Given the description of an element on the screen output the (x, y) to click on. 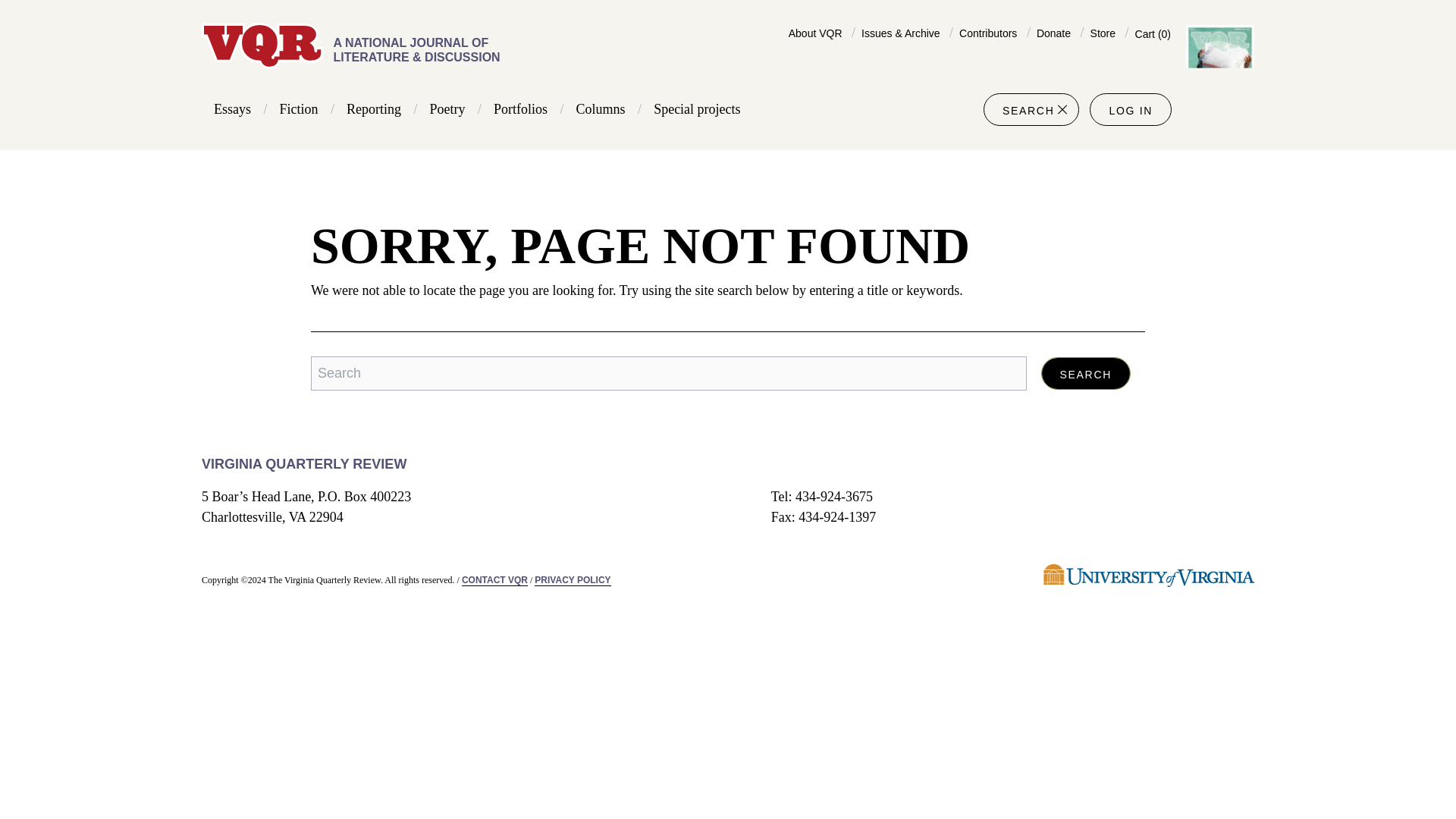
Contributors (987, 33)
Essays (232, 109)
Fiction (298, 109)
PRIVACY POLICY (572, 580)
Columns (601, 109)
LOG IN (1130, 110)
Donate (1053, 33)
Search (1085, 373)
Poetry (447, 109)
Special projects (696, 109)
SEARCH (1031, 109)
CONTACT VQR (494, 580)
Reporting (373, 109)
Store (1102, 33)
